Given the description of an element on the screen output the (x, y) to click on. 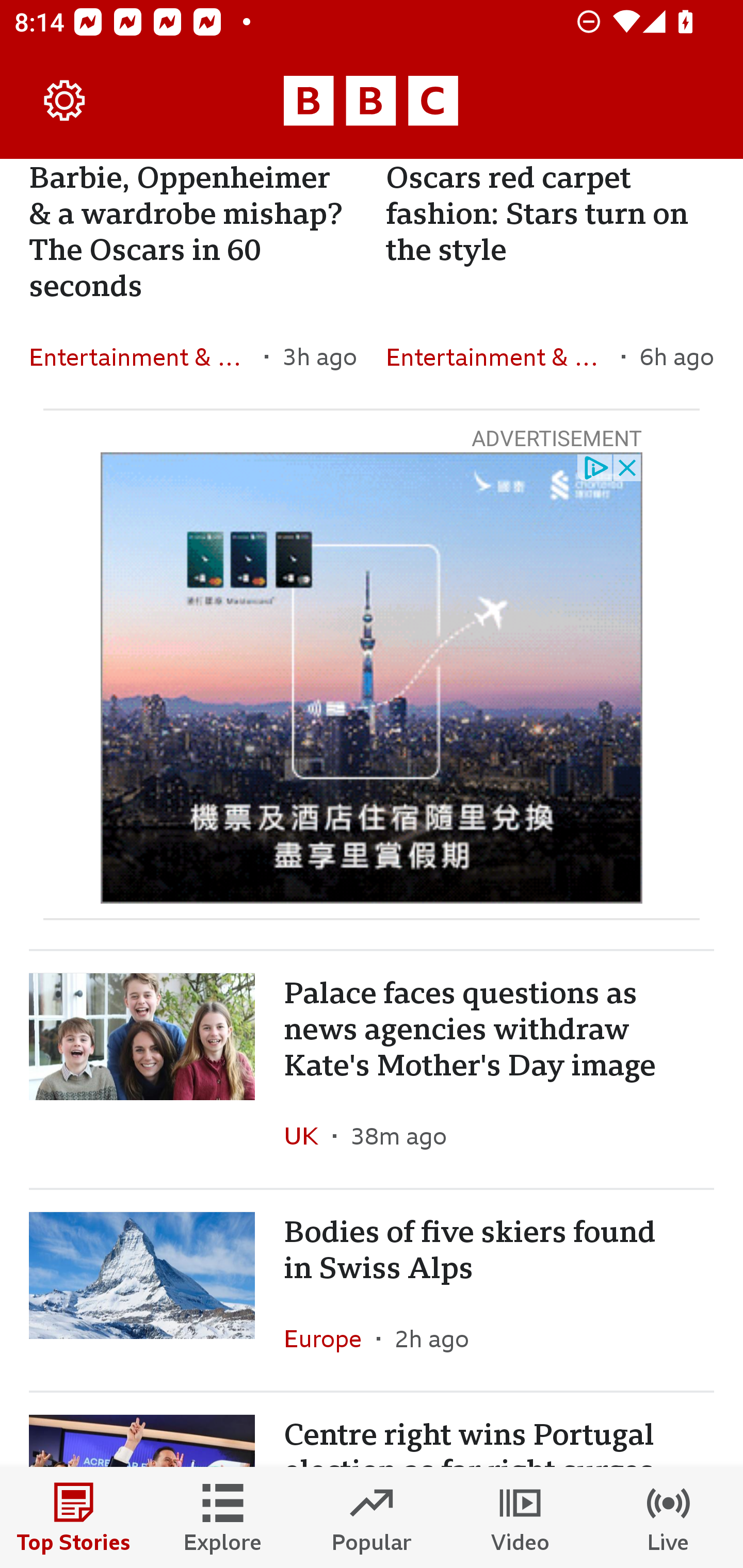
Settings (64, 100)
privacy_small (595, 466)
close_button (627, 466)
UK In the section UK (307, 1135)
Europe In the section Europe (329, 1337)
Explore (222, 1517)
Popular (371, 1517)
Video (519, 1517)
Live (668, 1517)
